Given the description of an element on the screen output the (x, y) to click on. 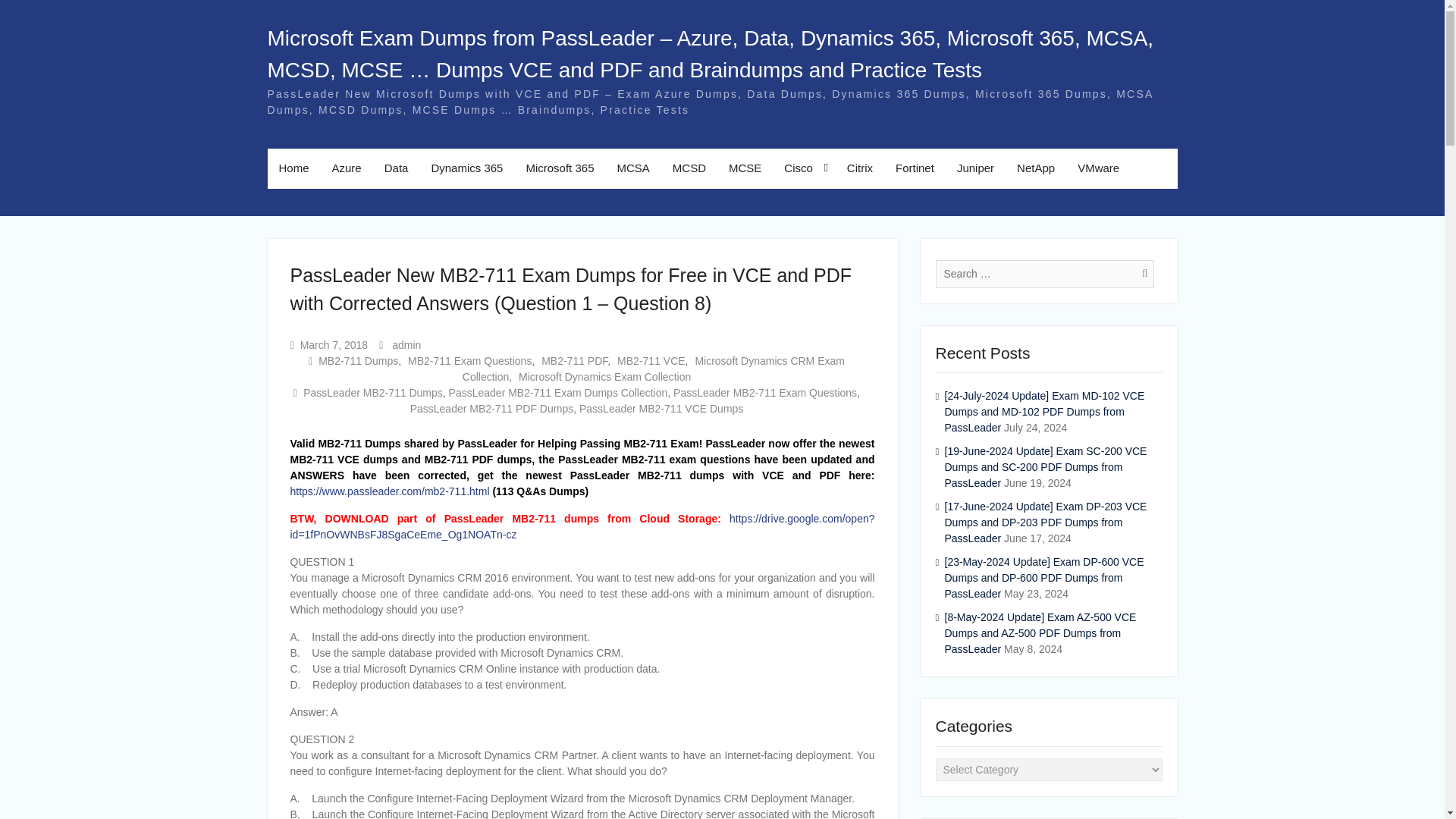
Cisco (804, 168)
PassLeader MB2-711 Exam Dumps Collection (558, 392)
PassLeader MB2-711 Dumps (372, 392)
Home (293, 168)
Data (396, 168)
MB2-711 Dumps (357, 360)
Juniper (975, 168)
NetApp (1035, 168)
Citrix (859, 168)
Microsoft 365 (559, 168)
Microsoft Dynamics Exam Collection (604, 376)
admin (405, 344)
MCSA (633, 168)
PassLeader MB2-711 PDF Dumps (491, 408)
Dynamics 365 (466, 168)
